Given the description of an element on the screen output the (x, y) to click on. 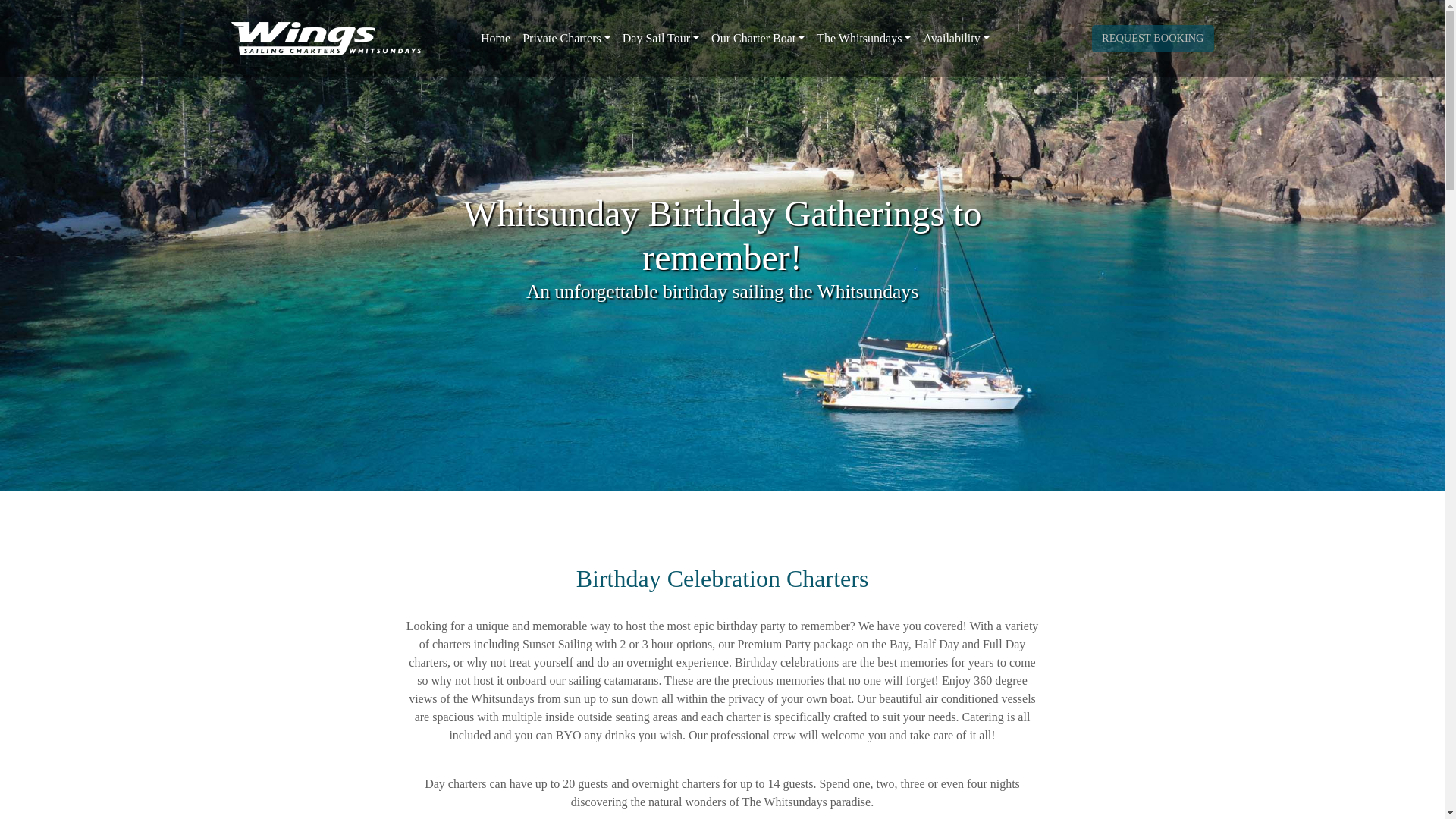
Home (495, 38)
Day Sail Tour (659, 38)
Private Charters (565, 38)
Our Charter Boat (757, 38)
